Given the description of an element on the screen output the (x, y) to click on. 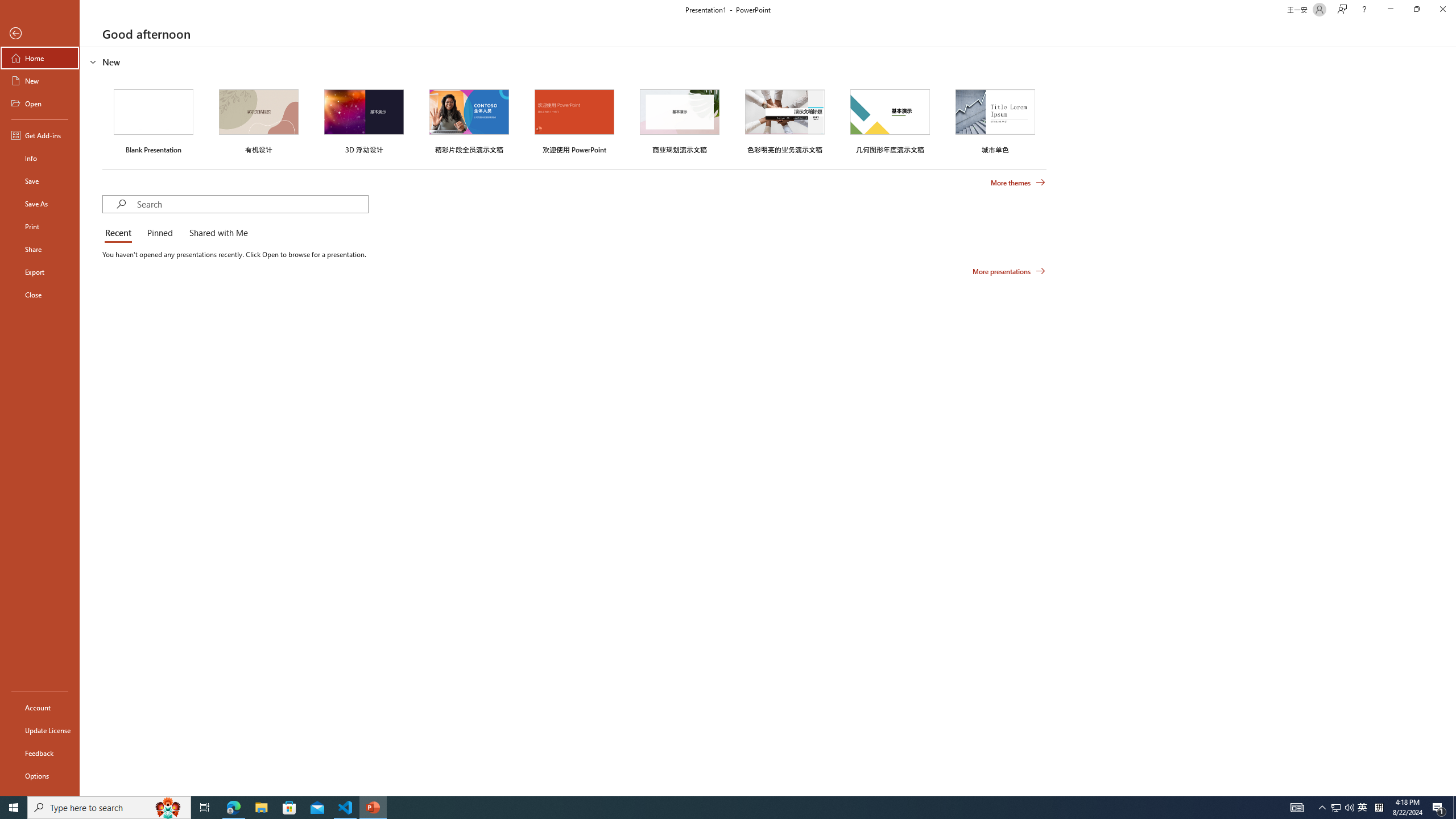
More presentations (1008, 270)
Get Add-ins (40, 134)
Close (40, 294)
Home (40, 57)
Account (40, 707)
More themes (1018, 182)
Blank Presentation (153, 119)
Export (40, 271)
Save As (40, 203)
New (40, 80)
